Given the description of an element on the screen output the (x, y) to click on. 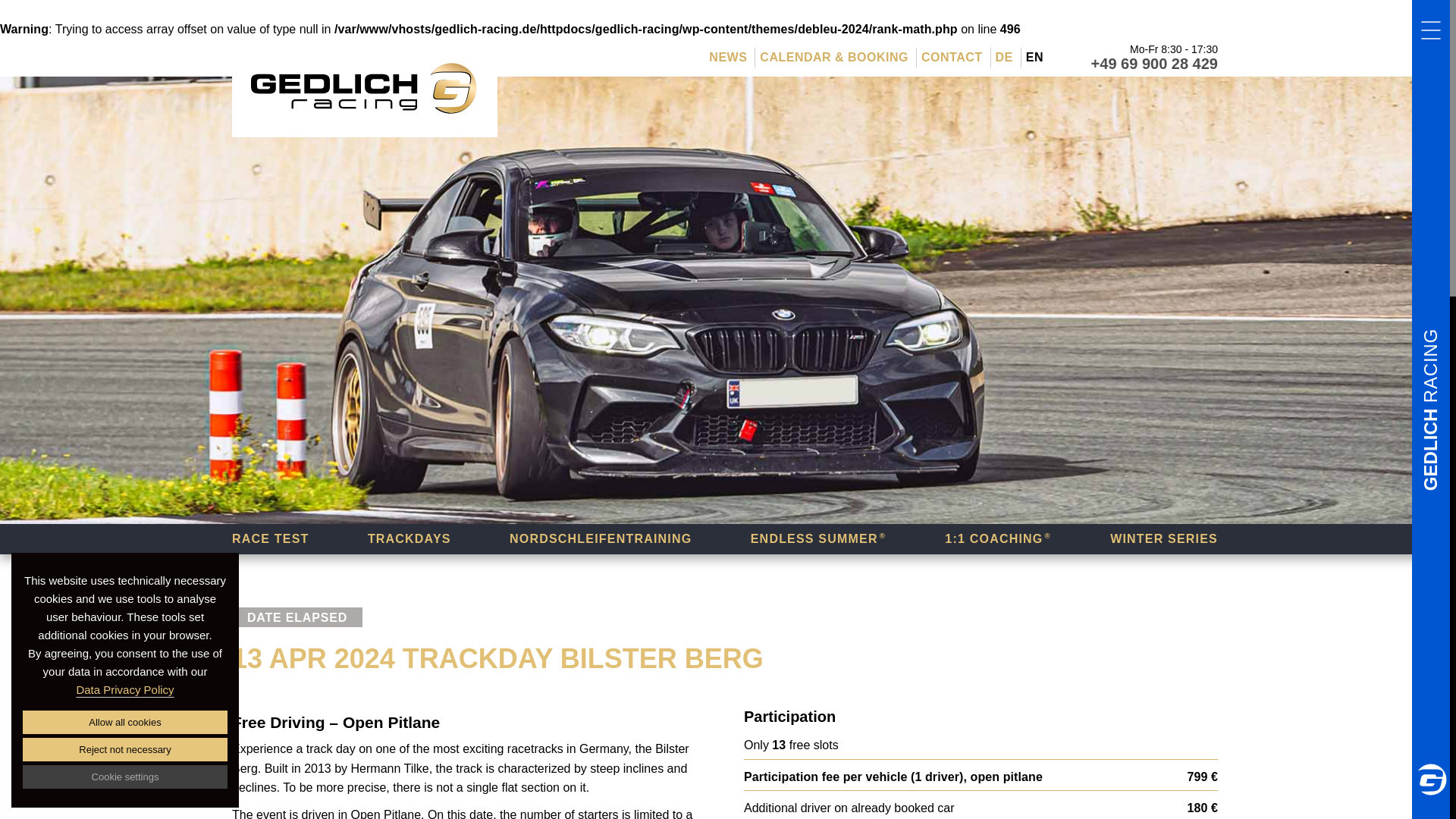
DE (1004, 56)
CONTACT (951, 56)
EN (1034, 56)
RACE TEST (269, 539)
NEWS (727, 56)
WINTER SERIES (1163, 539)
CAR CONTROL TRAINING (316, 539)
TRACKDAYS (409, 539)
